Given the description of an element on the screen output the (x, y) to click on. 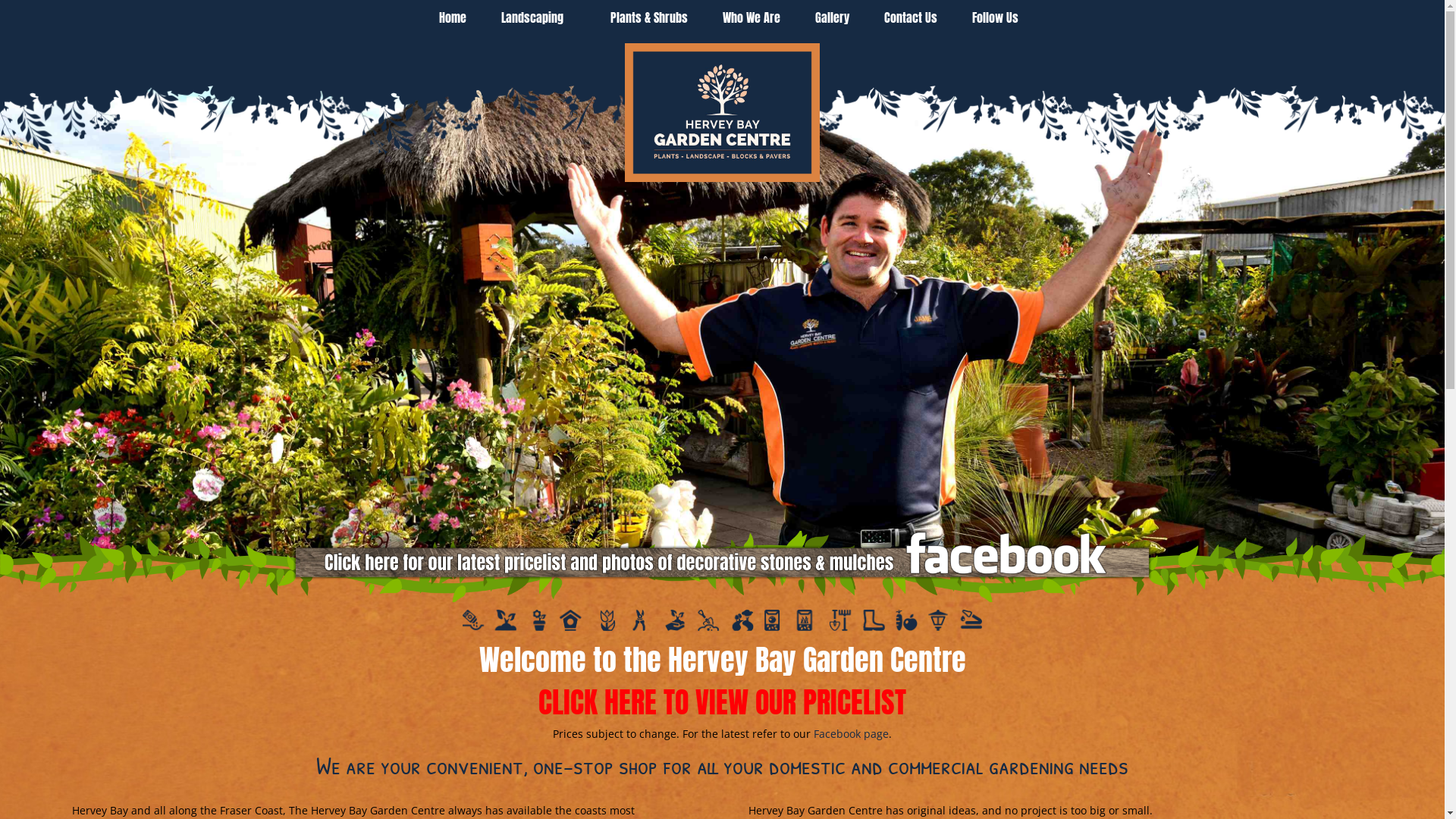
CLICK HERE TO VIEW OUR PRICELIST Element type: text (722, 702)
Gallery Element type: text (825, 17)
Landscaping Element type: text (531, 17)
Follow Us Element type: text (988, 17)
Facebook page Element type: text (850, 733)
Home Element type: text (446, 17)
Contact Us Element type: text (903, 17)
Plants & Shrubs Element type: text (642, 17)
Who We Are Element type: text (745, 17)
